Given the description of an element on the screen output the (x, y) to click on. 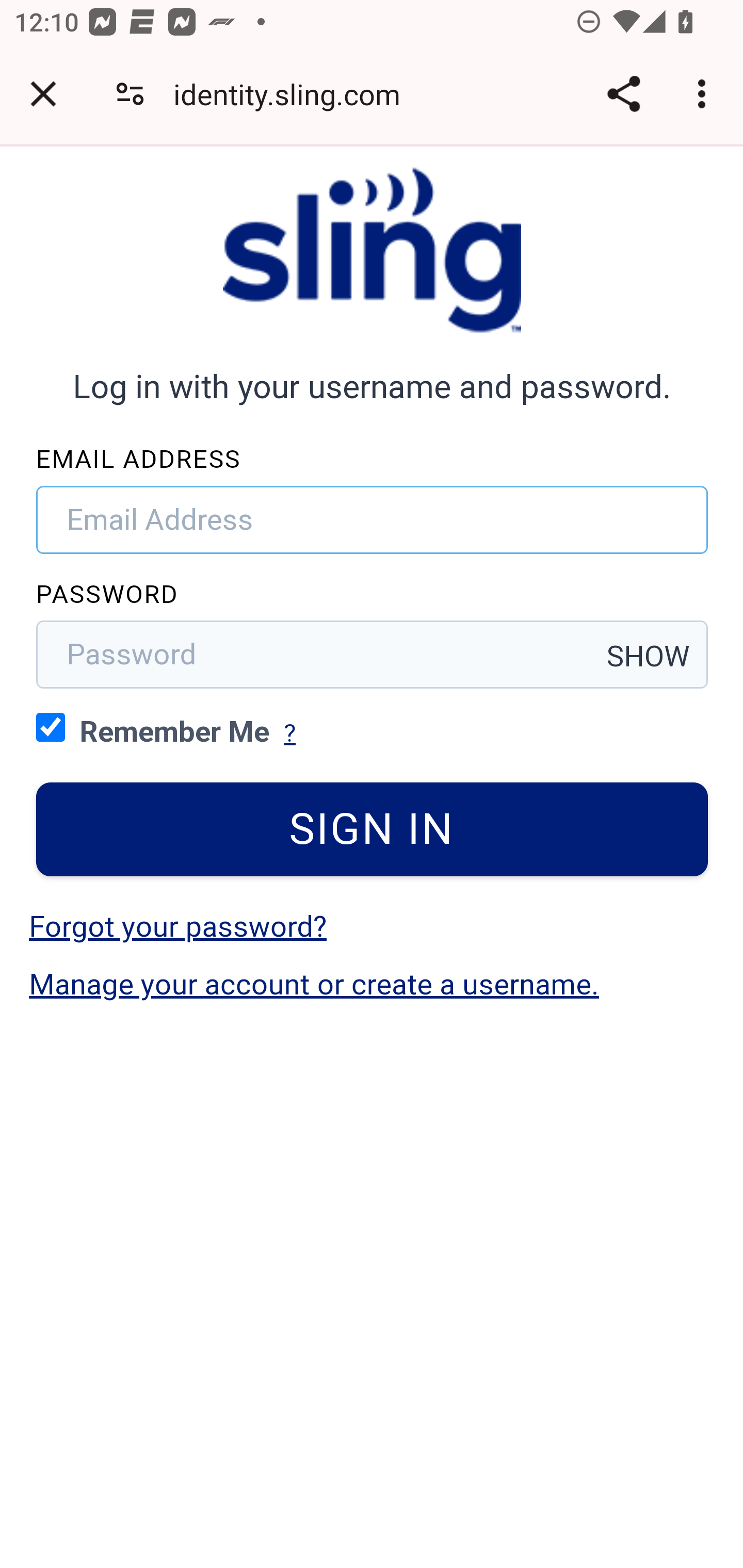
Close tab (43, 93)
Share (623, 93)
Customize and control Google Chrome (705, 93)
Connection is secure (129, 93)
identity.sling.com (294, 93)
SHOW (649, 655)
Remember Me (50, 726)
? (289, 732)
SIGN IN (372, 829)
Forgot your password? (177, 926)
Manage your account or create a username. (313, 984)
